Given the description of an element on the screen output the (x, y) to click on. 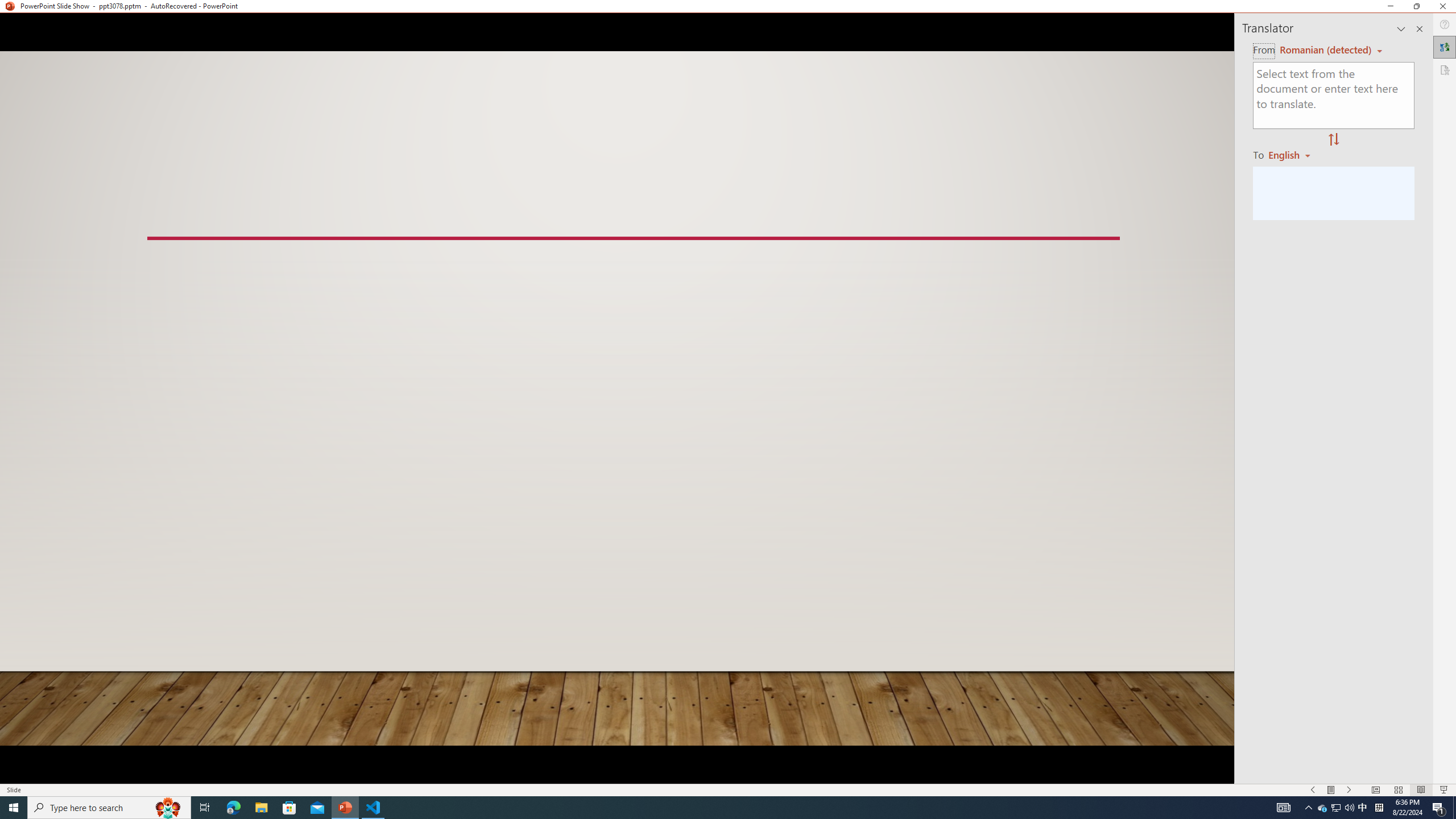
Romanian (1293, 154)
Czech (detected) (1323, 50)
